Given the description of an element on the screen output the (x, y) to click on. 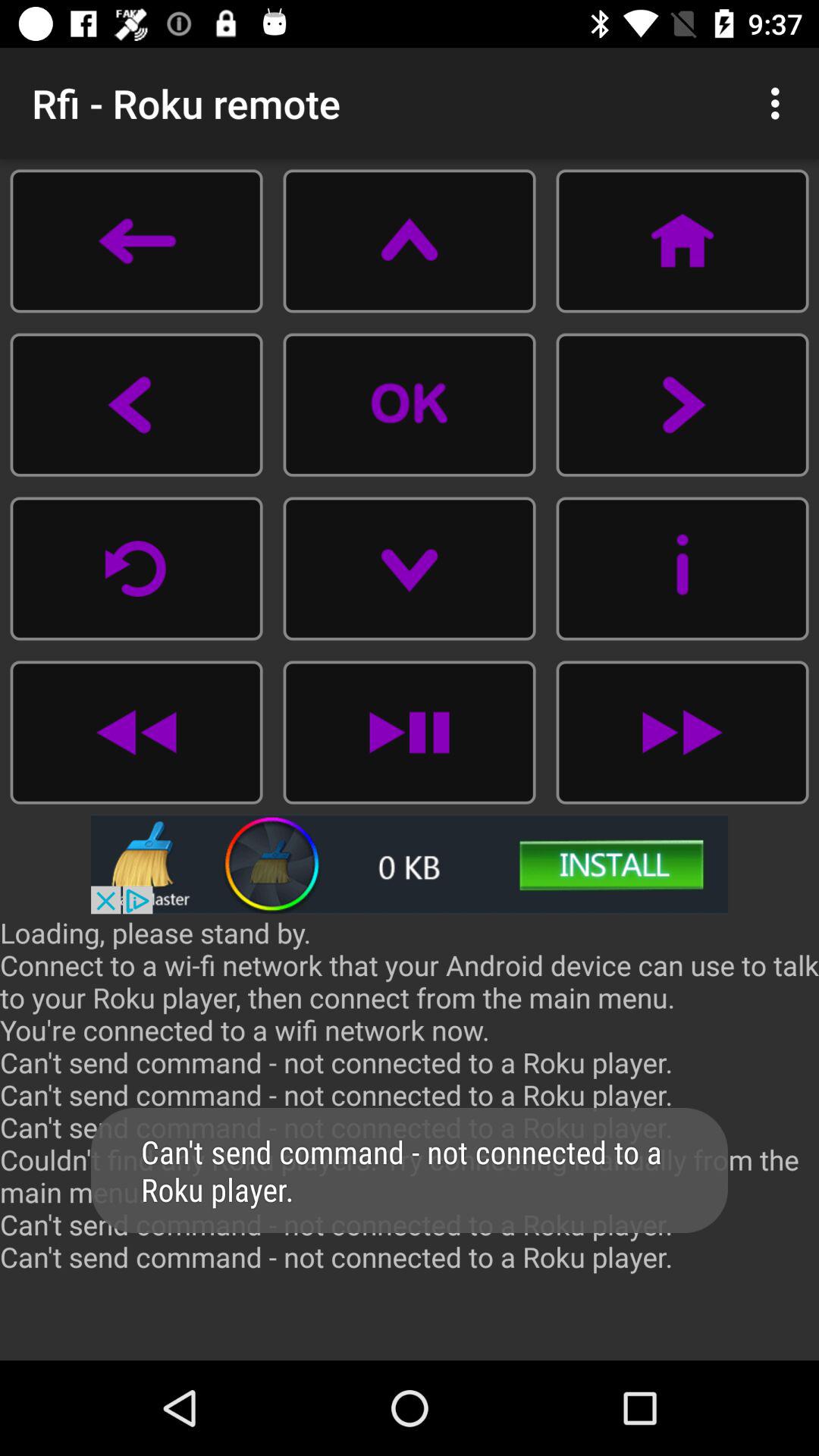
next page the article (682, 404)
